Given the description of an element on the screen output the (x, y) to click on. 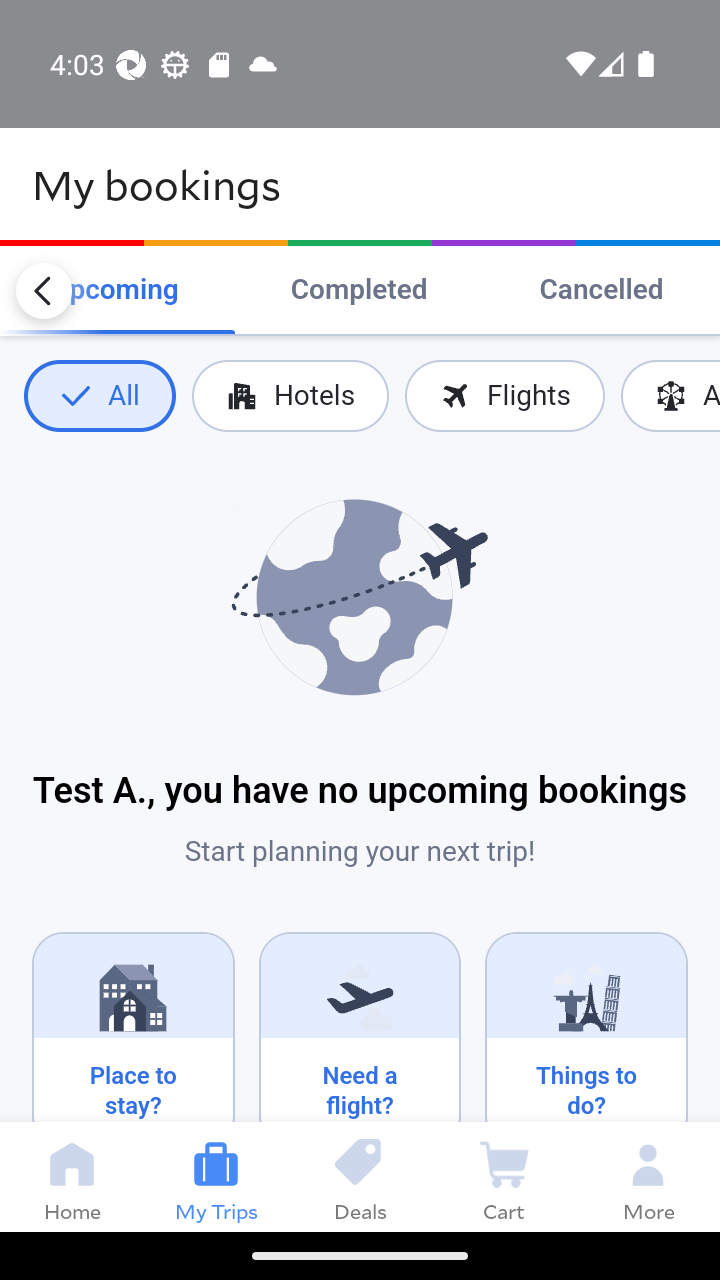
Upcoming (114, 289)
Completed (358, 289)
Cancelled (601, 289)
All (99, 395)
Hotels (290, 395)
Flights (504, 395)
Activities (669, 395)
Home (72, 1176)
My Trips (216, 1176)
Deals (360, 1176)
Cart (504, 1176)
More (648, 1176)
